Given the description of an element on the screen output the (x, y) to click on. 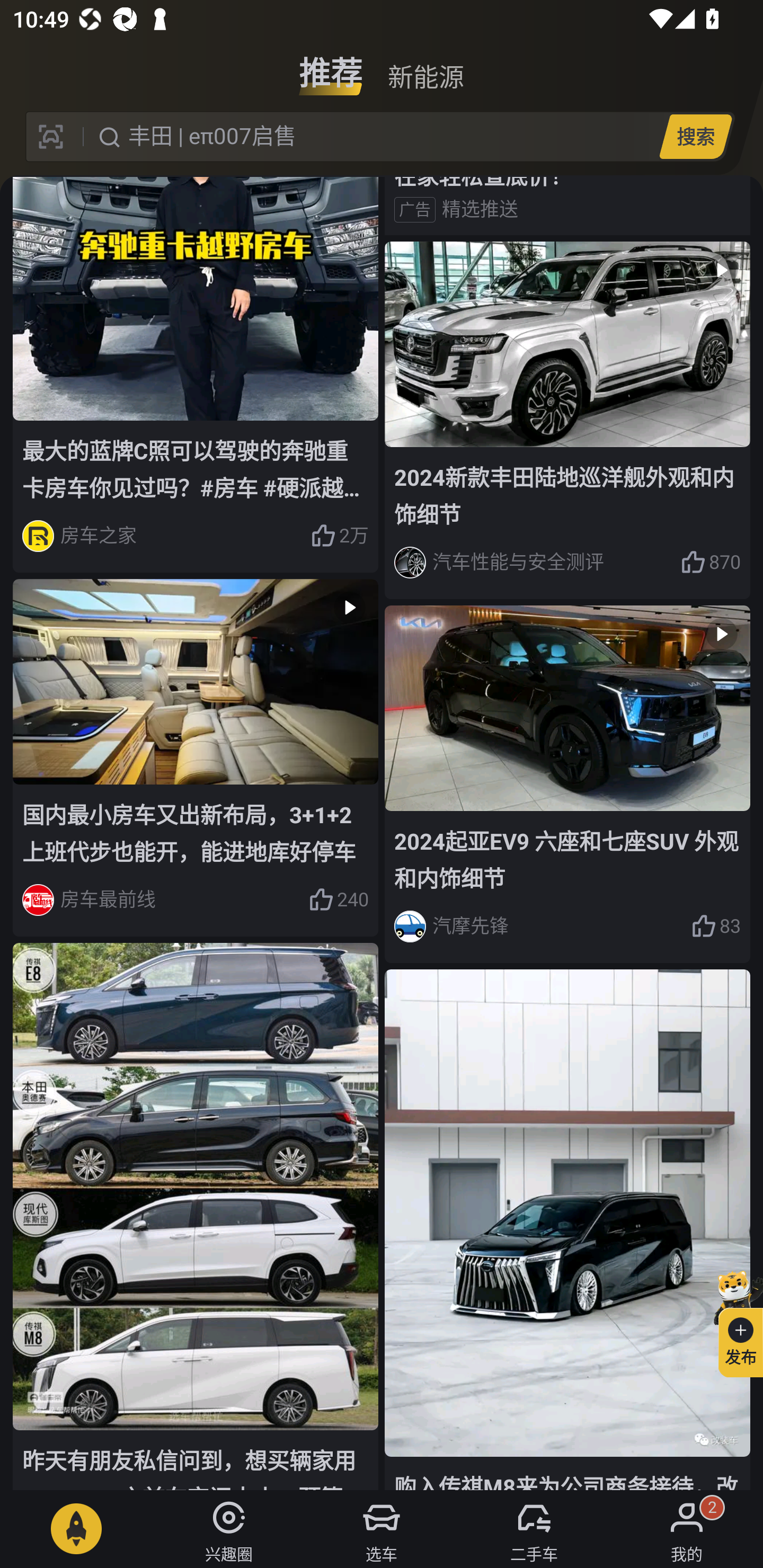
推荐 (330, 65)
新能源 (425, 65)
搜索 (695, 136)
 2024新款丰田陆地巡洋舰外观和内饰细节 汽车性能与安全测评 870 (567, 419)
2万 (339, 535)
870 (710, 562)
 国内最小房车又出新布局，3+1+2上班代步也能开，能进地库好停车 房车最前线 240 (195, 757)
 2024起亚EV9 六座和七座SUV 外观和内饰细节 汽摩先锋 83 (567, 783)
240 (338, 899)
83 (715, 926)
购入传祺M8来为公司商务接待，改个气动姿态风来方便客户上车？ (567, 1229)
发布 (732, 1321)
 兴趣圈 (228, 1528)
 选车 (381, 1528)
 二手车 (533, 1528)
 我的 (686, 1528)
